Given the description of an element on the screen output the (x, y) to click on. 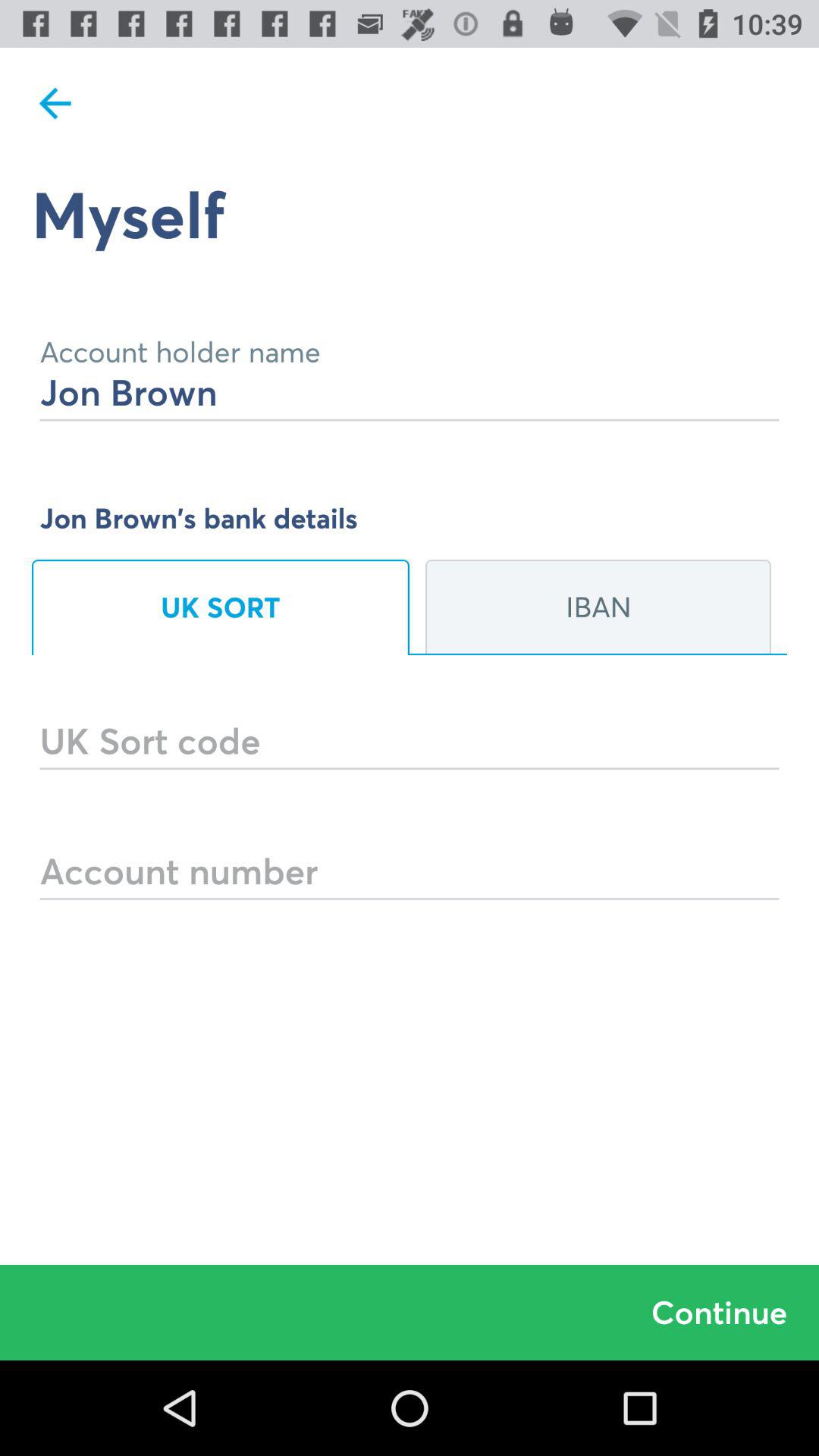
swipe to uk sort item (220, 607)
